Given the description of an element on the screen output the (x, y) to click on. 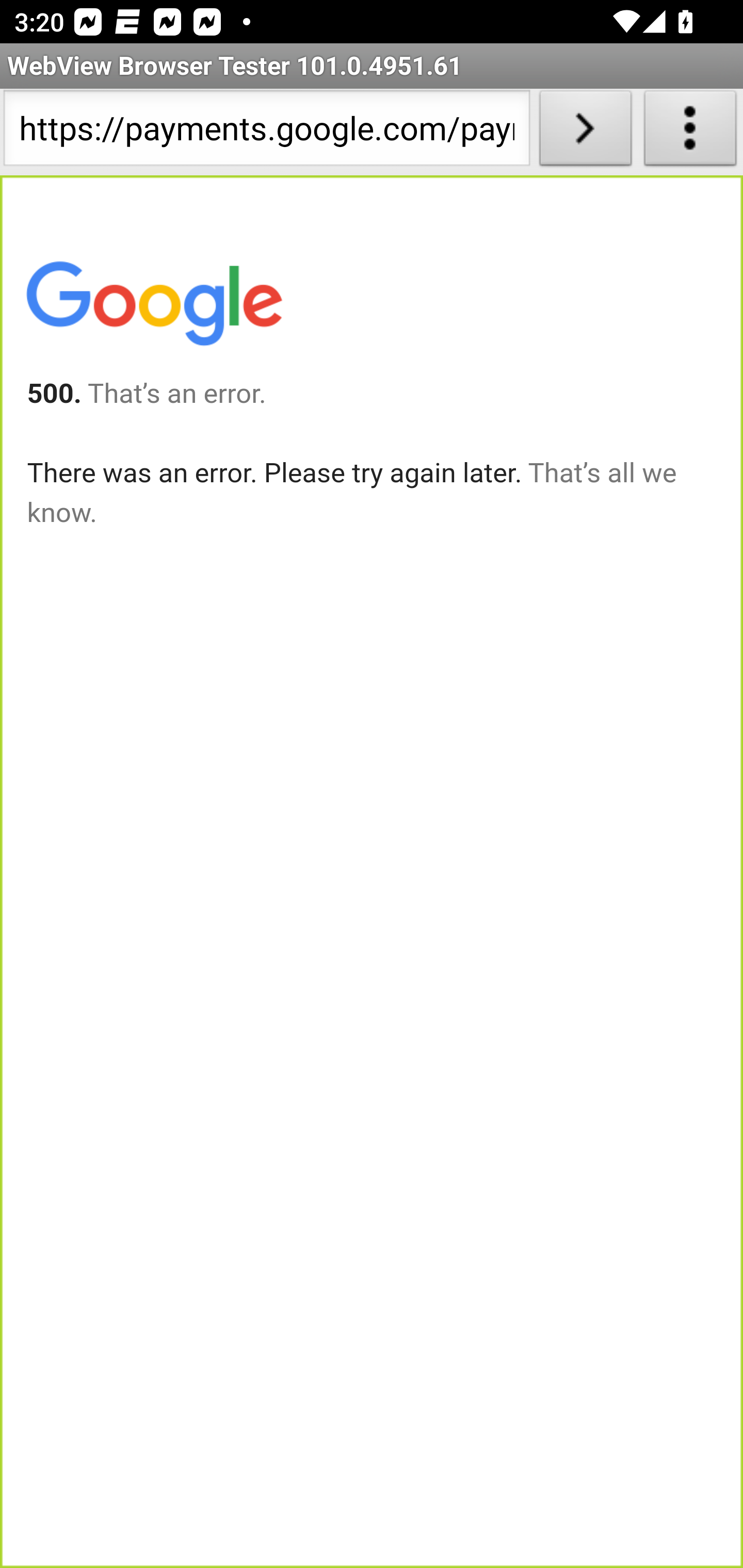
Load URL (585, 132)
About WebView (690, 132)
Google (153, 307)
